Given the description of an element on the screen output the (x, y) to click on. 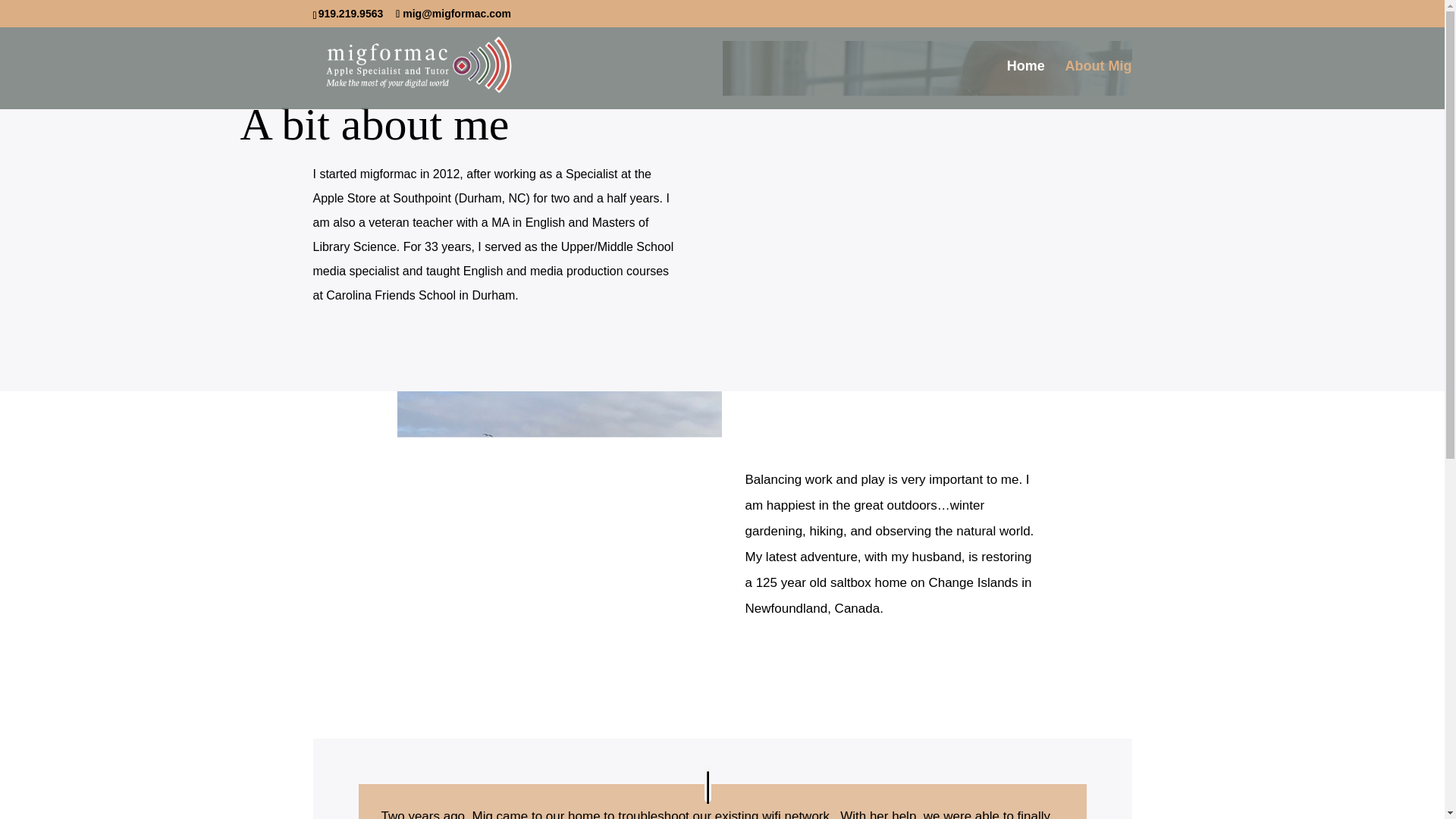
About Mig (1098, 84)
